Given the description of an element on the screen output the (x, y) to click on. 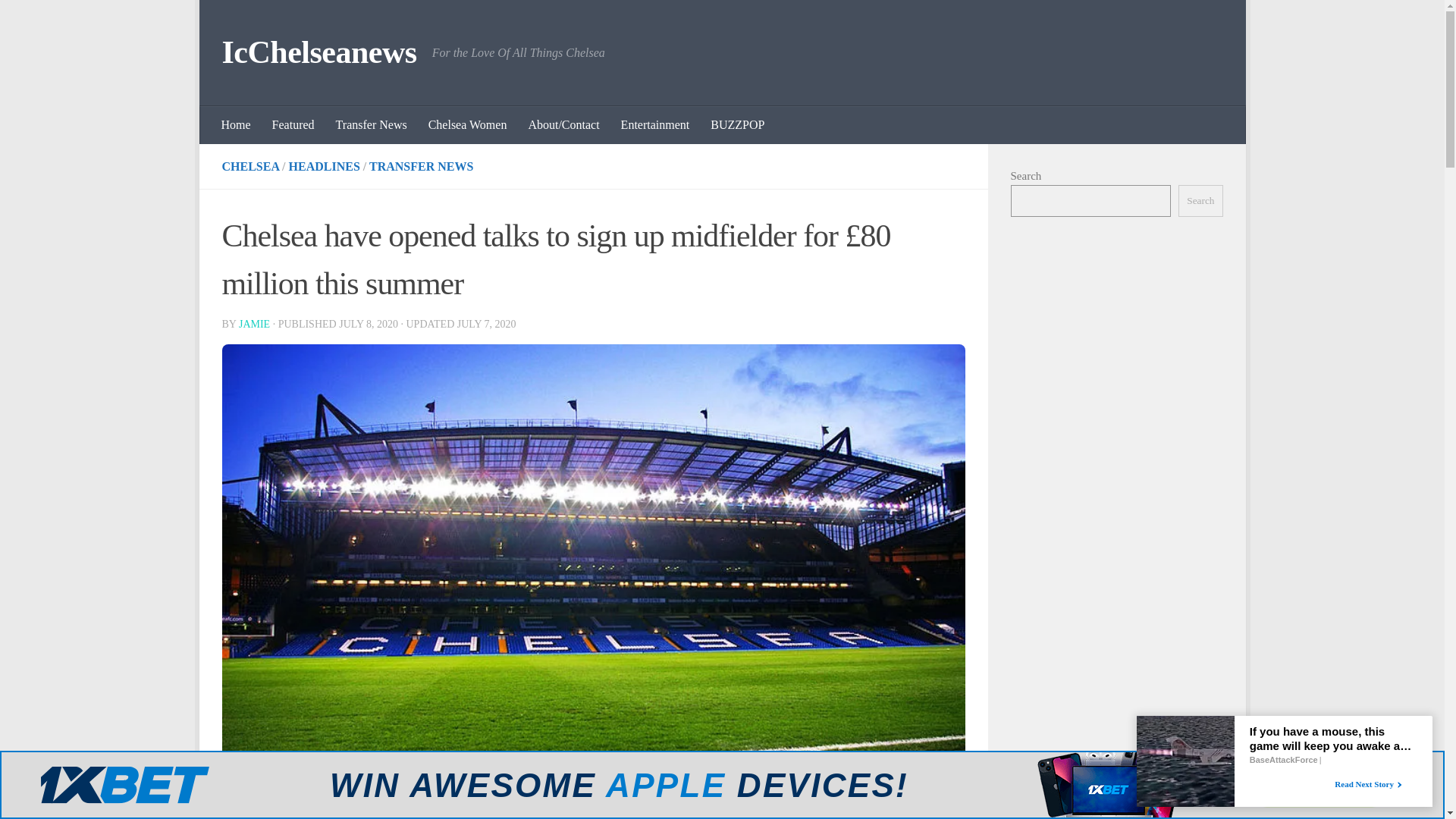
IcChelseanews (318, 53)
Home (236, 125)
BUZZPOP (737, 125)
CHELSEA (250, 165)
JAMIE (253, 324)
Below content (255, 20)
Transfer News (370, 125)
Chelsea Women (467, 125)
Featured (293, 125)
HEADLINES (323, 165)
Posts by Jamie (253, 324)
TRANSFER NEWS (421, 165)
Entertainment (655, 125)
